Given the description of an element on the screen output the (x, y) to click on. 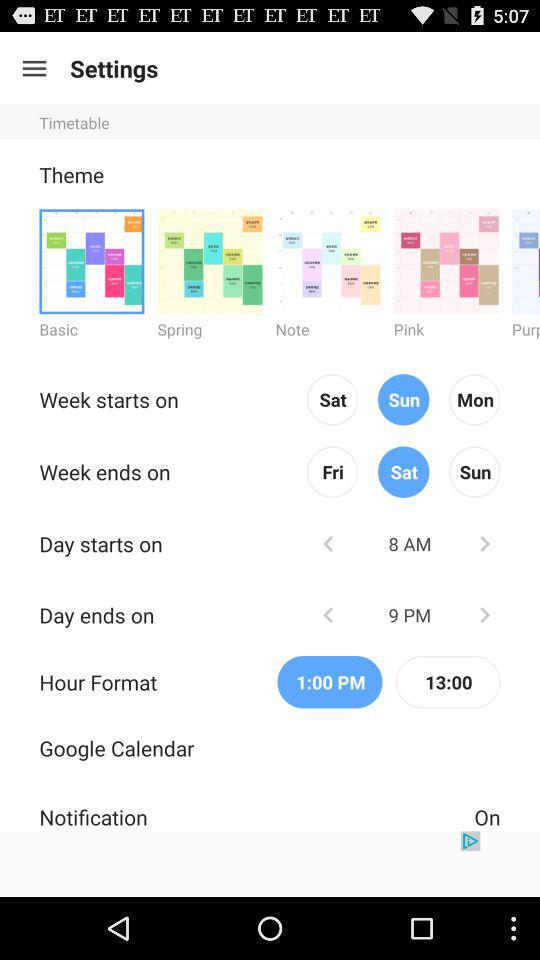
previous icon (328, 614)
